Given the description of an element on the screen output the (x, y) to click on. 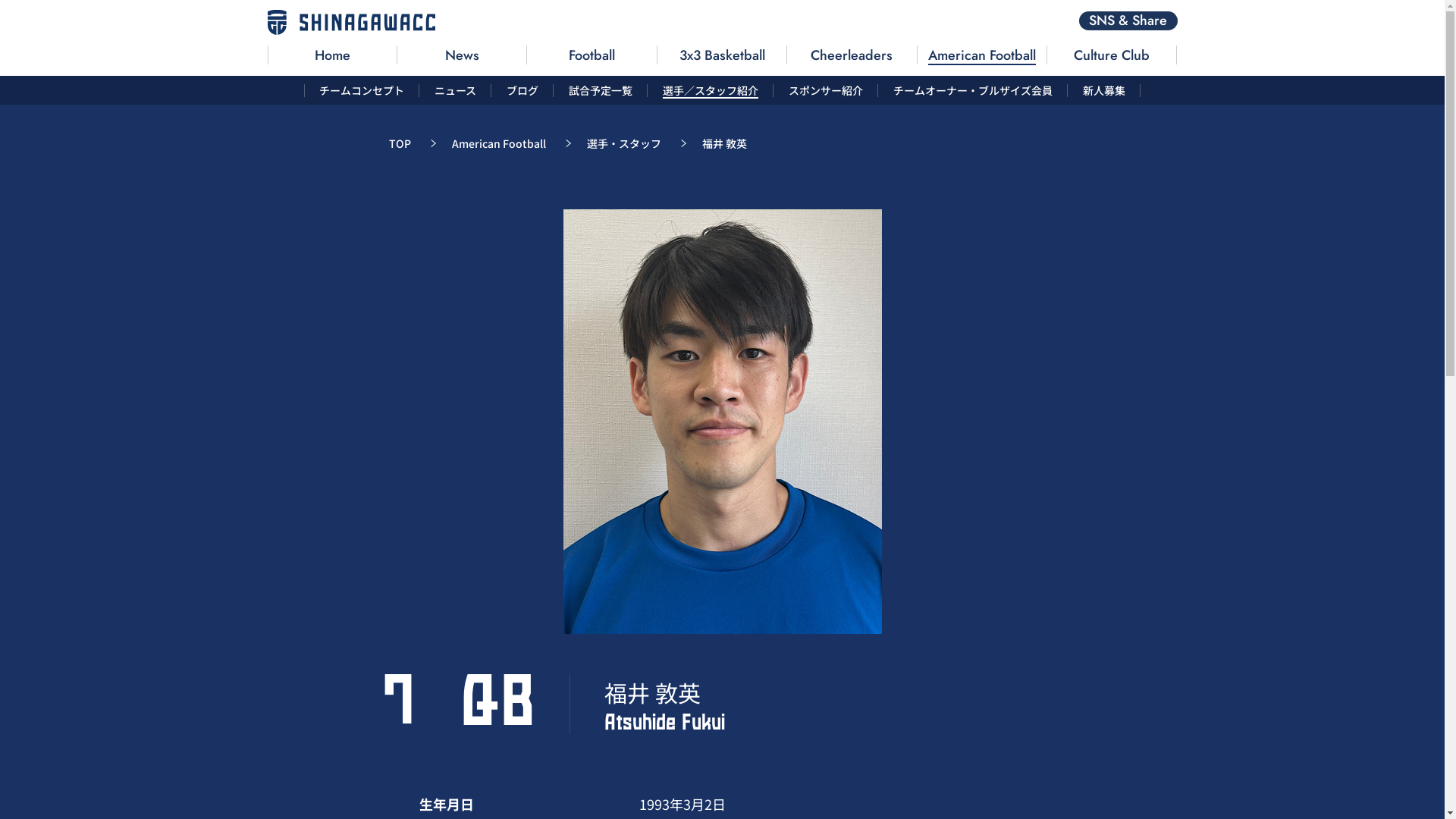
Culture Club Element type: text (1111, 54)
Home Element type: text (332, 54)
News Element type: text (461, 54)
American Football Element type: text (498, 142)
3x3 Basketball Element type: text (721, 54)
Cheerleaders Element type: text (851, 54)
SNS & Share Element type: text (1127, 20)
TOP Element type: text (399, 142)
American Football Element type: text (981, 54)
Football Element type: text (591, 54)
